Given the description of an element on the screen output the (x, y) to click on. 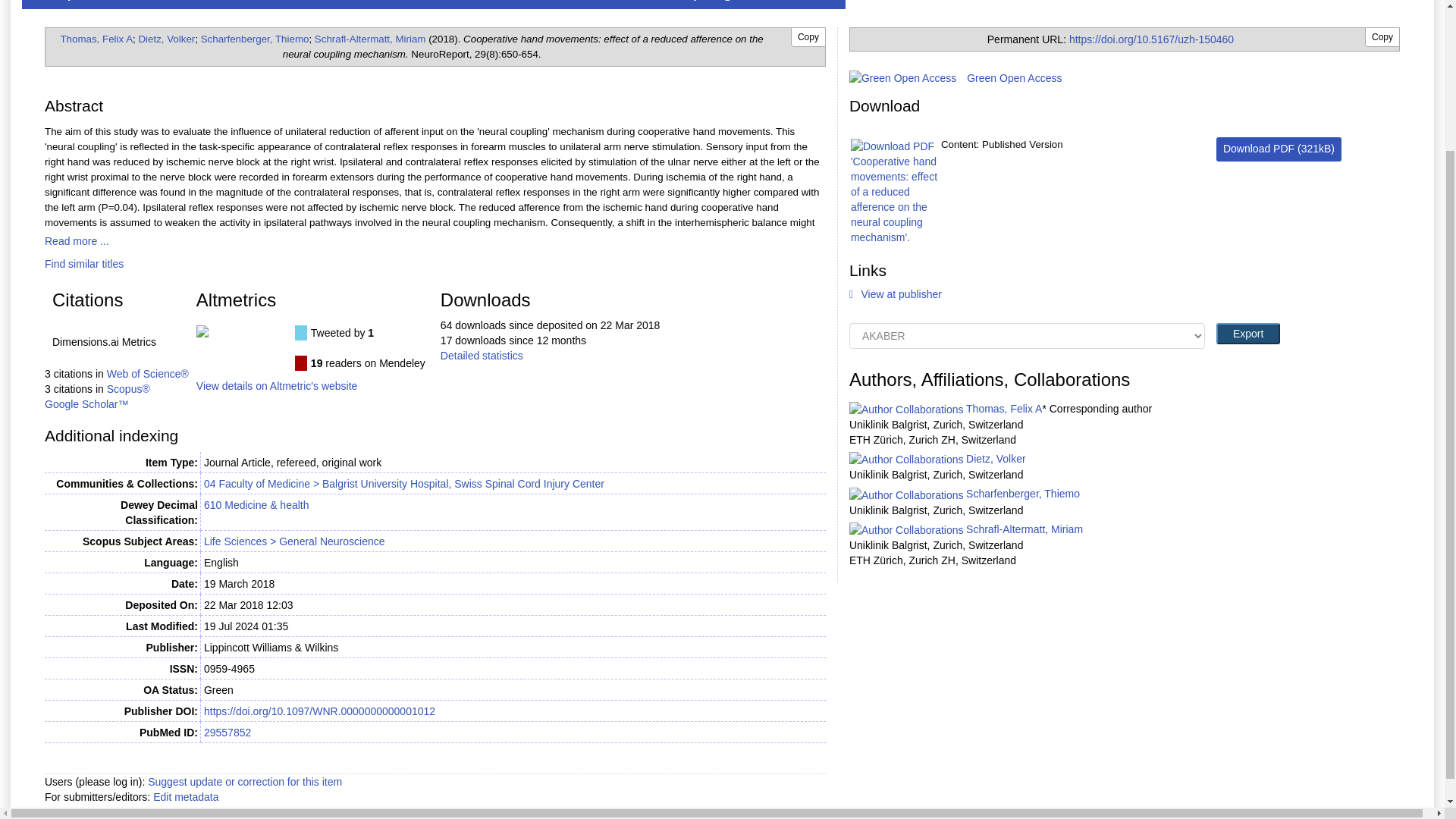
Copy (807, 36)
Read more ... (77, 241)
Schrafl-Altermatt, Miriam (370, 39)
Thomas, Felix A (95, 39)
Find similar titles (84, 263)
Scharfenberger, Thiemo (254, 39)
Dietz, Volker (166, 39)
Export (1247, 332)
